Given the description of an element on the screen output the (x, y) to click on. 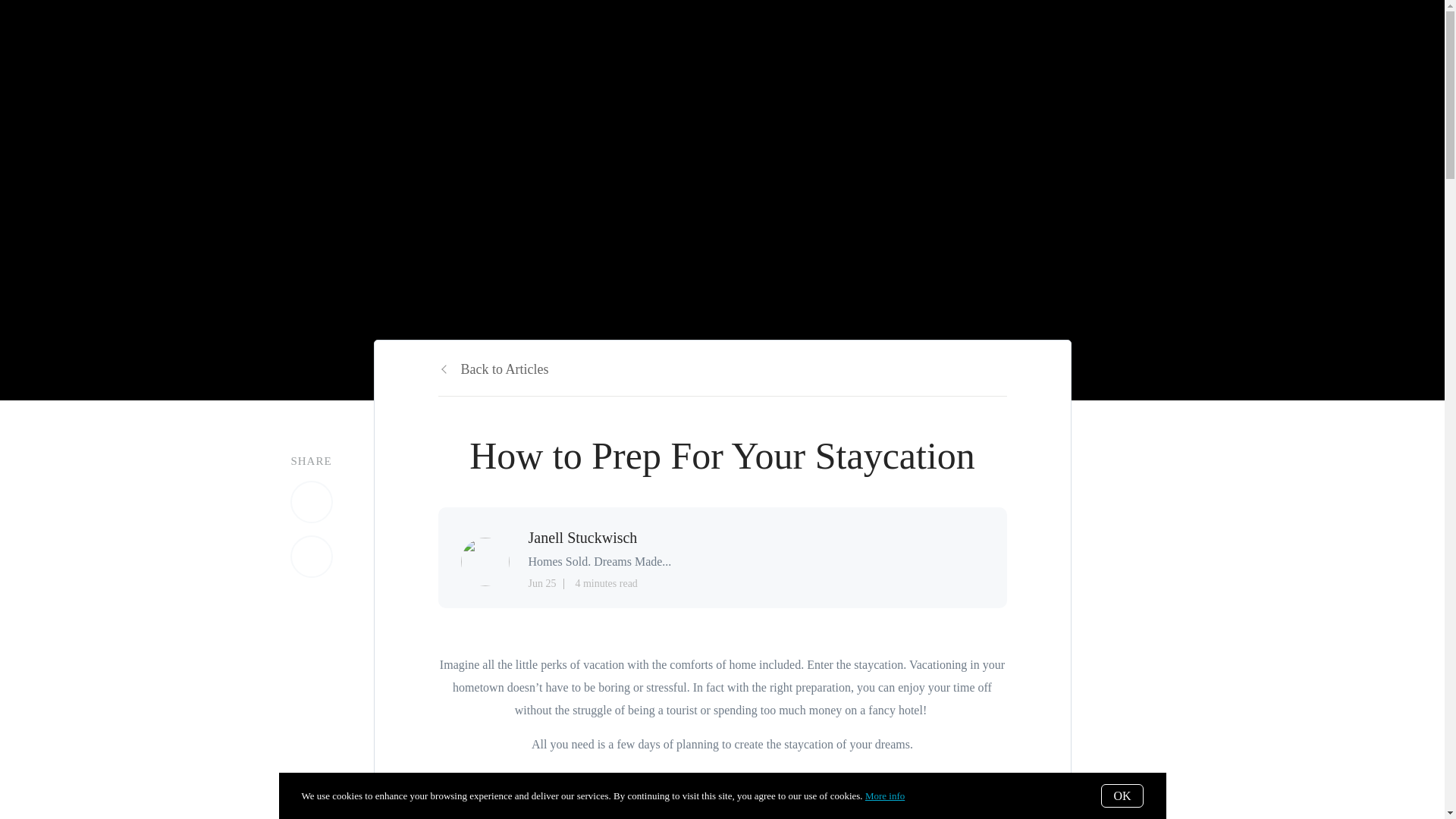
OK (1121, 795)
Back to Articles (493, 368)
More info (884, 795)
